Given the description of an element on the screen output the (x, y) to click on. 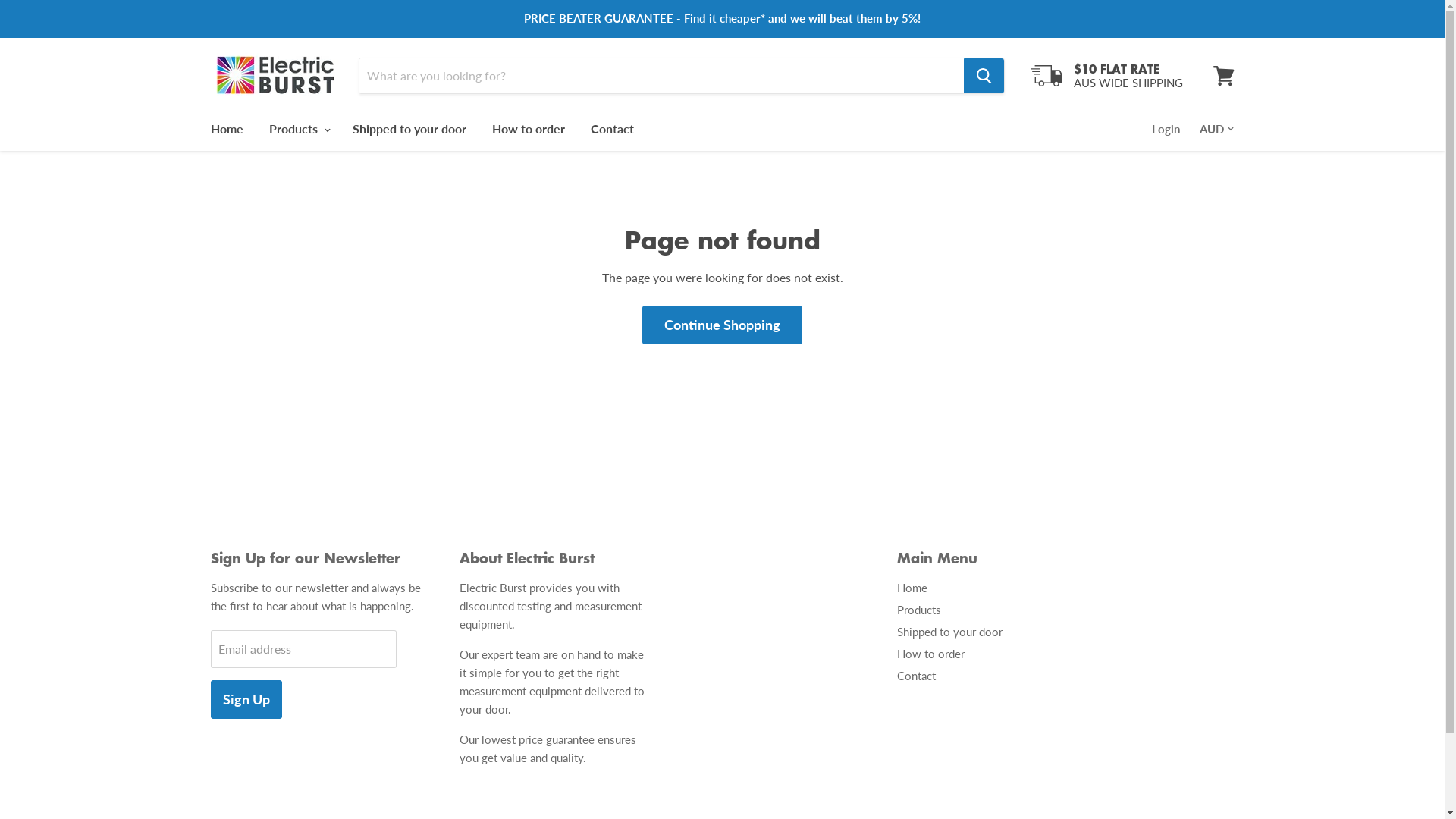
Home Element type: text (226, 128)
Products Element type: text (297, 128)
$10 FLAT RATE
AUS WIDE SHIPPING Element type: text (1105, 75)
Shipped to your door Element type: text (409, 128)
How to order Element type: text (929, 652)
Login Element type: text (1165, 128)
Contact Element type: text (612, 128)
Shipped to your door Element type: text (948, 631)
Sign Up Element type: text (246, 699)
Products Element type: text (918, 608)
How to order Element type: text (528, 128)
Contact Element type: text (915, 675)
View cart Element type: text (1223, 75)
Continue Shopping Element type: text (722, 324)
Home Element type: text (911, 587)
